Given the description of an element on the screen output the (x, y) to click on. 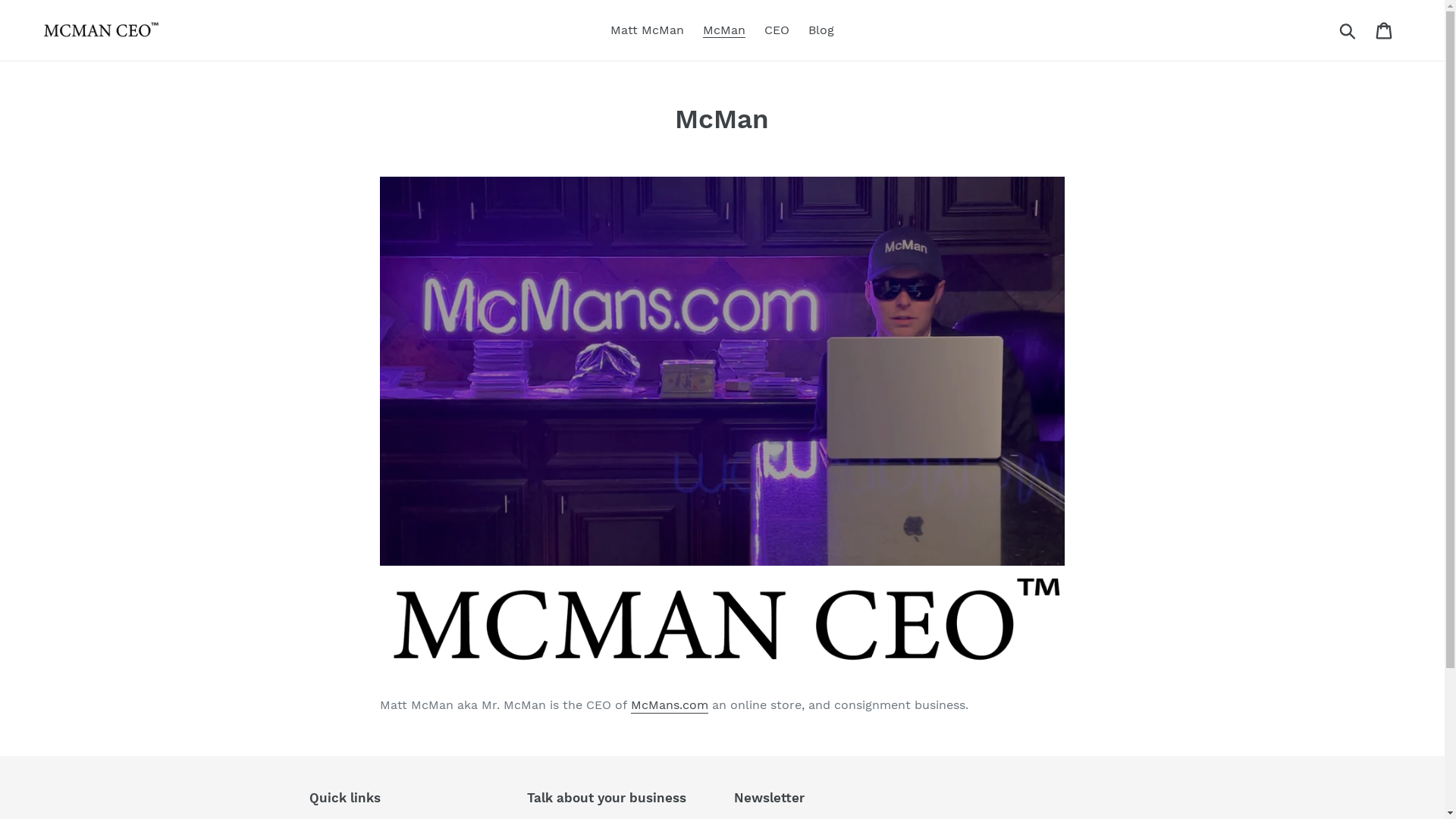
Blog Element type: text (820, 29)
Cart Element type: text (1384, 30)
McMan Element type: text (724, 29)
Matt McMan Element type: text (646, 29)
McMans.com Element type: text (669, 705)
CEO Element type: text (776, 29)
Submit Element type: text (1348, 30)
